Given the description of an element on the screen output the (x, y) to click on. 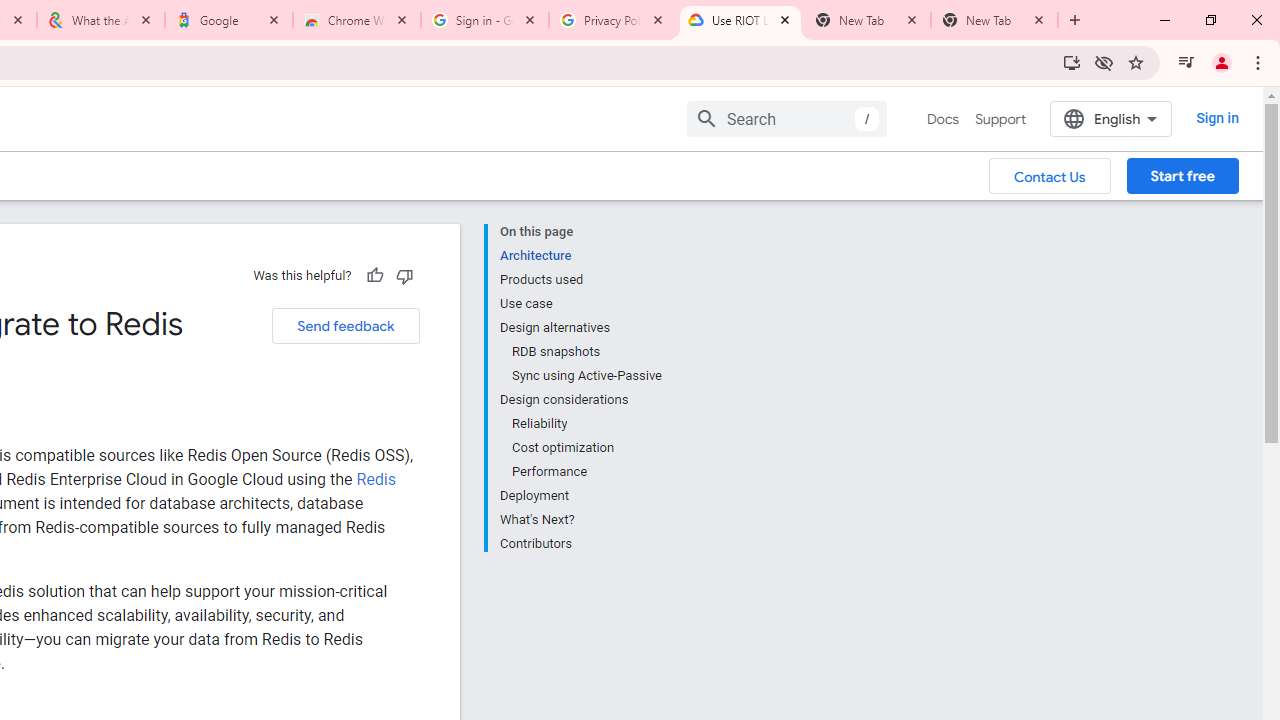
Install Google Cloud (1071, 62)
What's Next? (580, 520)
Sign in - Google Accounts (485, 20)
Architecture (580, 255)
Send feedback (345, 326)
Performance (585, 471)
New Tab (994, 20)
Contributors (580, 542)
RDB snapshots (585, 351)
Deployment (580, 495)
